Given the description of an element on the screen output the (x, y) to click on. 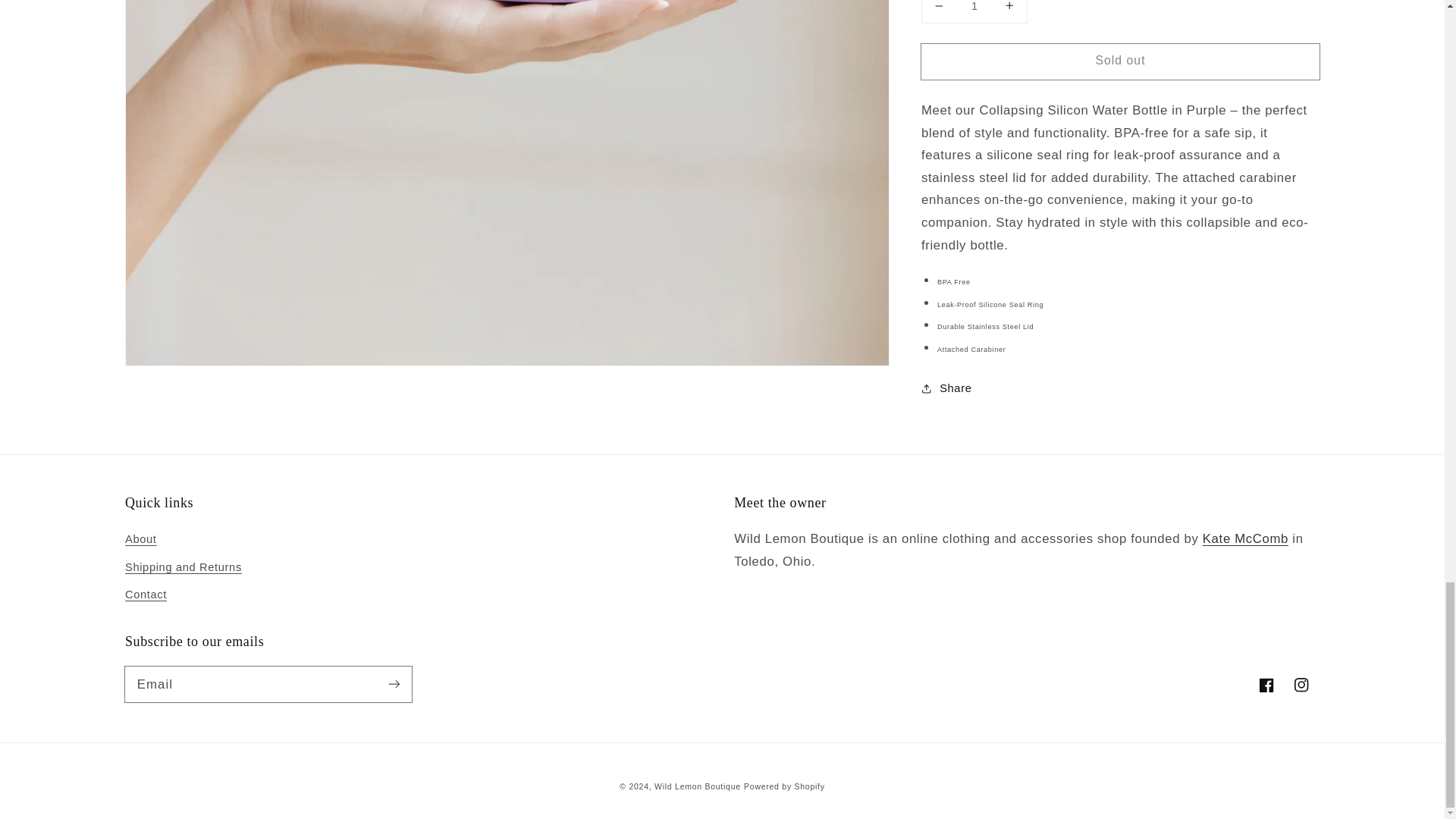
About (1245, 538)
